Given the description of an element on the screen output the (x, y) to click on. 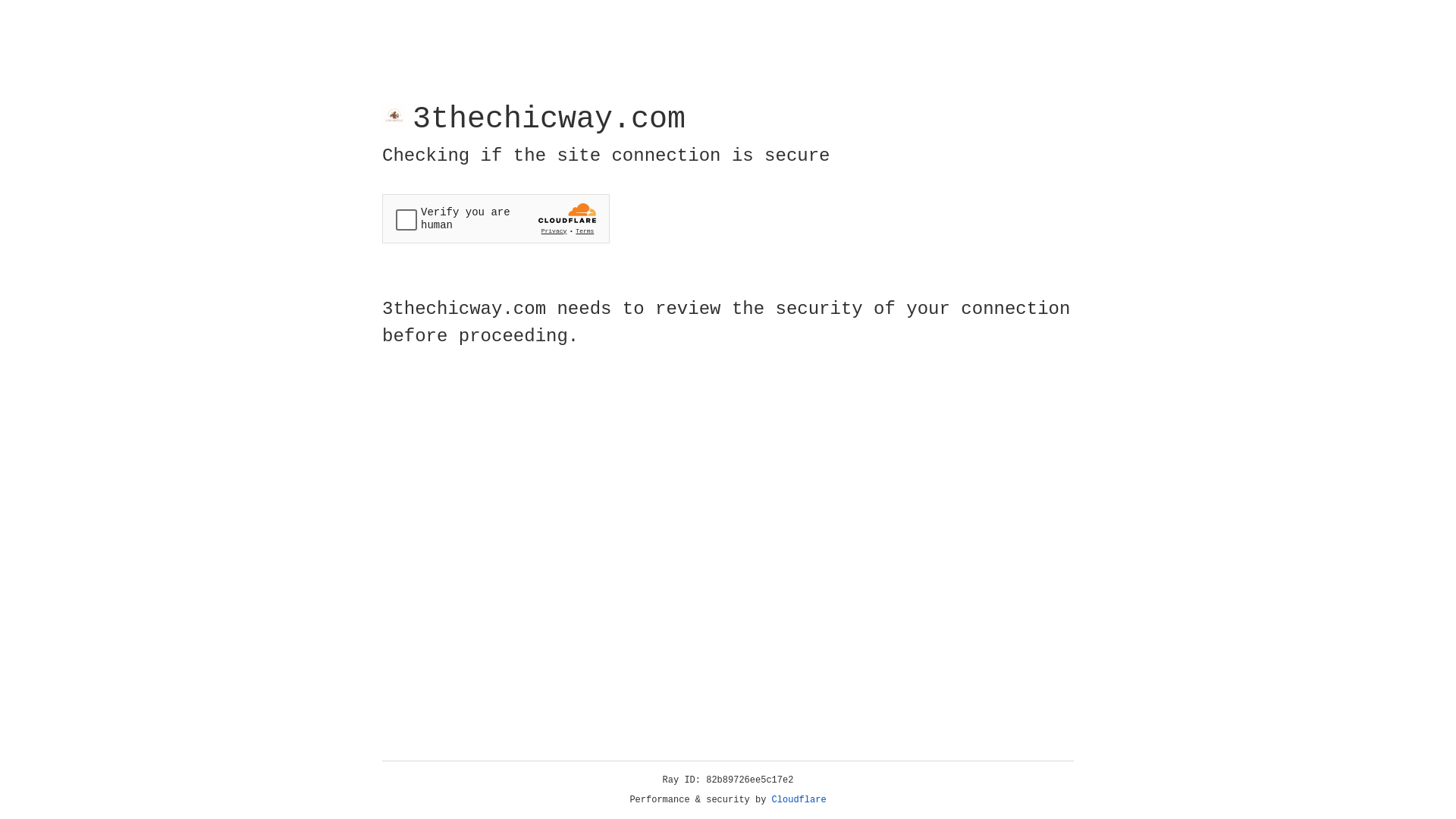
Widget containing a Cloudflare security challenge Element type: hover (495, 218)
Cloudflare Element type: text (798, 799)
